Given the description of an element on the screen output the (x, y) to click on. 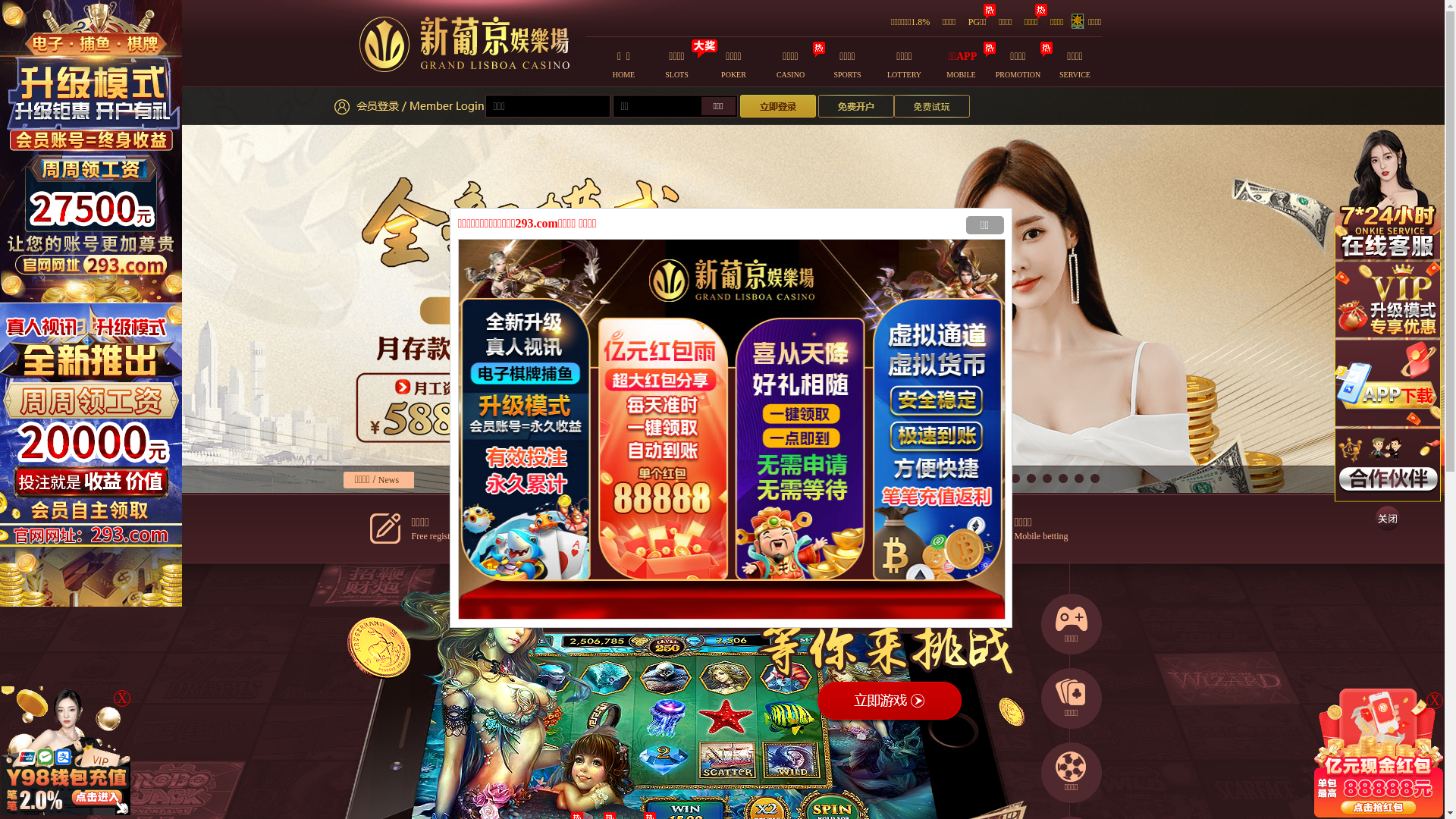
X Element type: text (1434, 700)
X Element type: text (121, 698)
